Given the description of an element on the screen output the (x, y) to click on. 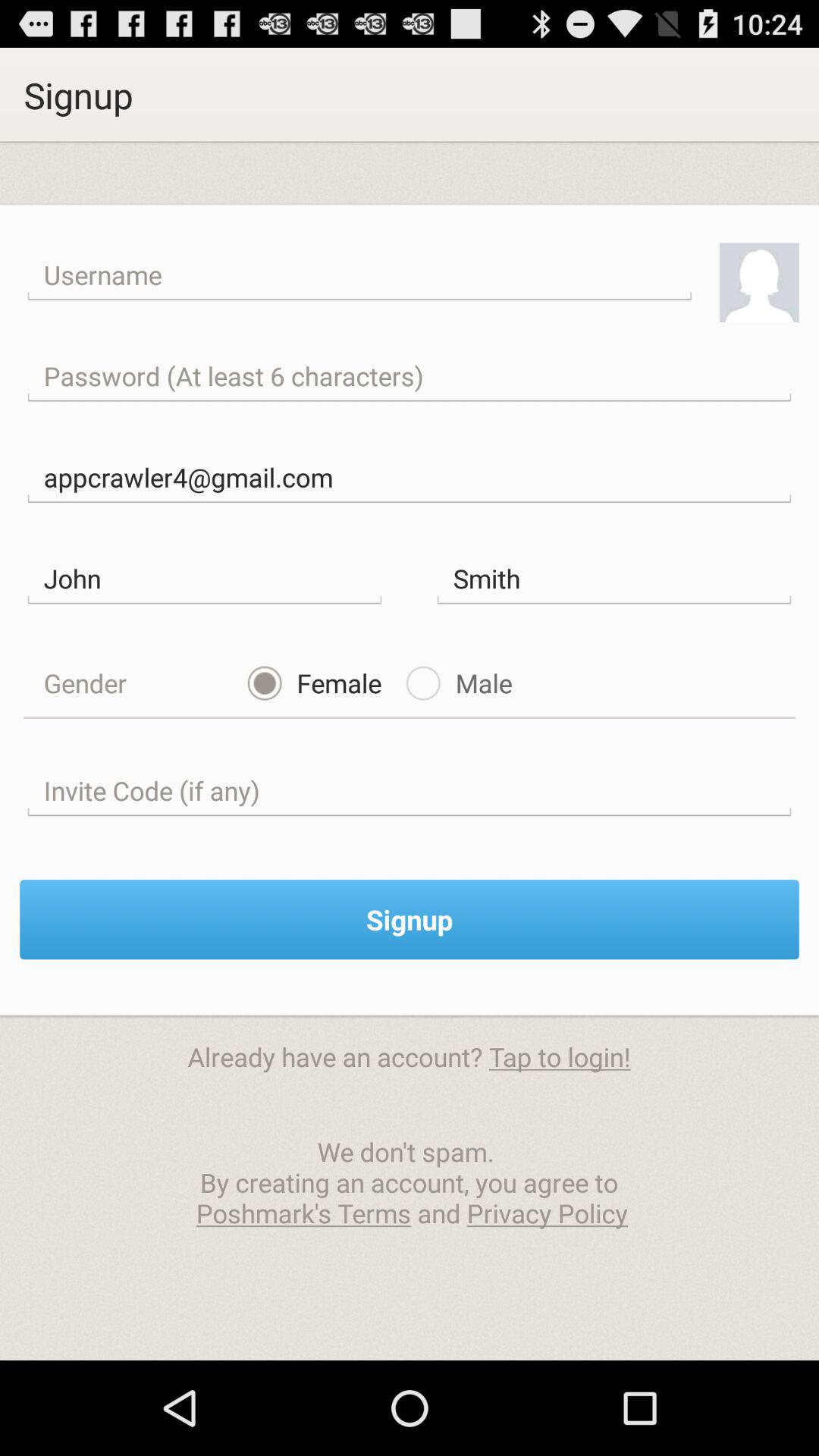
password row (409, 376)
